Given the description of an element on the screen output the (x, y) to click on. 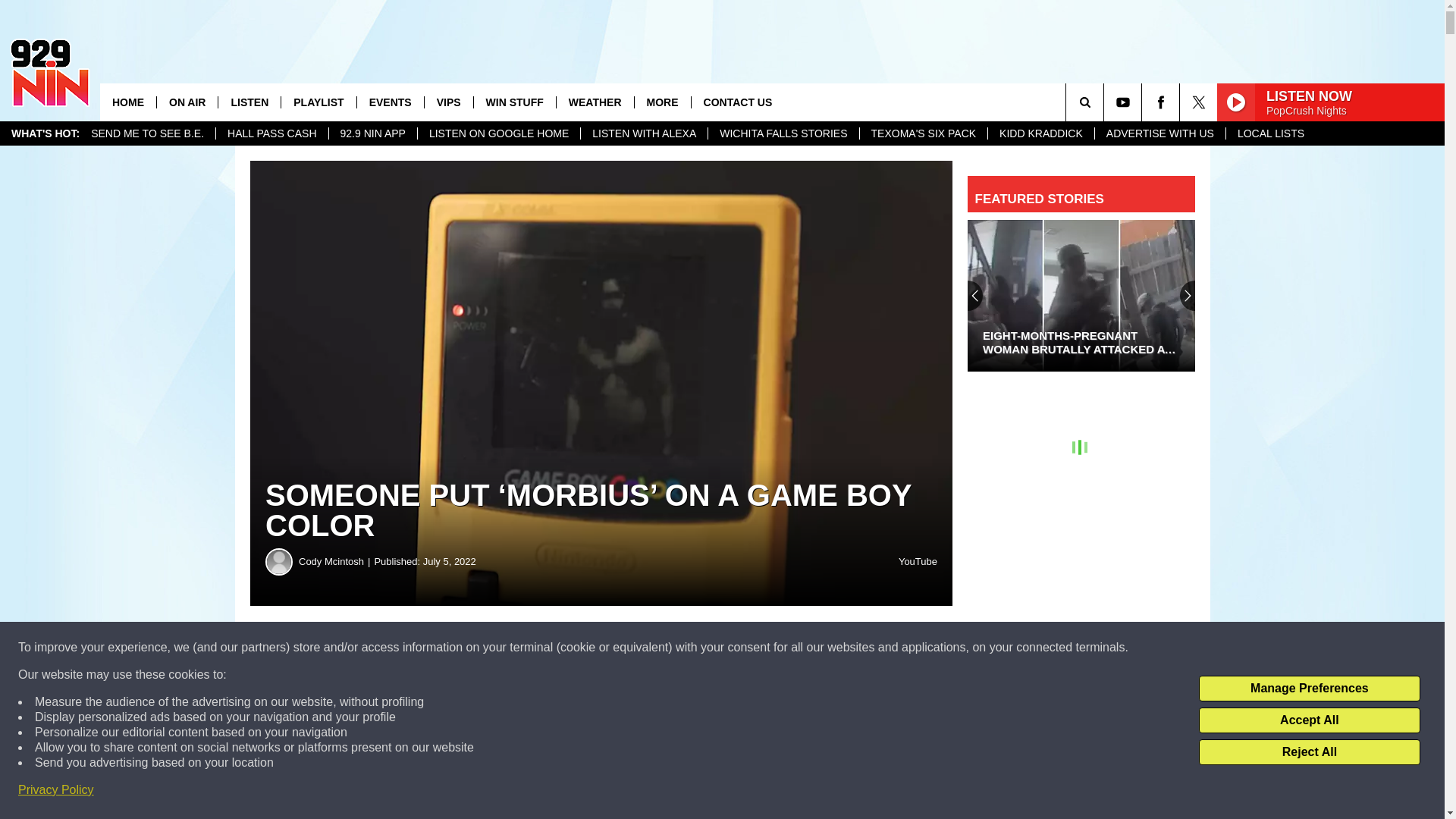
ADVERTISE WITH US (1159, 133)
HOME (127, 102)
LISTEN (248, 102)
Manage Preferences (1309, 688)
LISTEN ON GOOGLE HOME (497, 133)
Share on Facebook (460, 647)
Share on Twitter (741, 647)
SEND ME TO SEE B.E. (147, 133)
LOCAL LISTS (1270, 133)
Reject All (1309, 751)
